Given the description of an element on the screen output the (x, y) to click on. 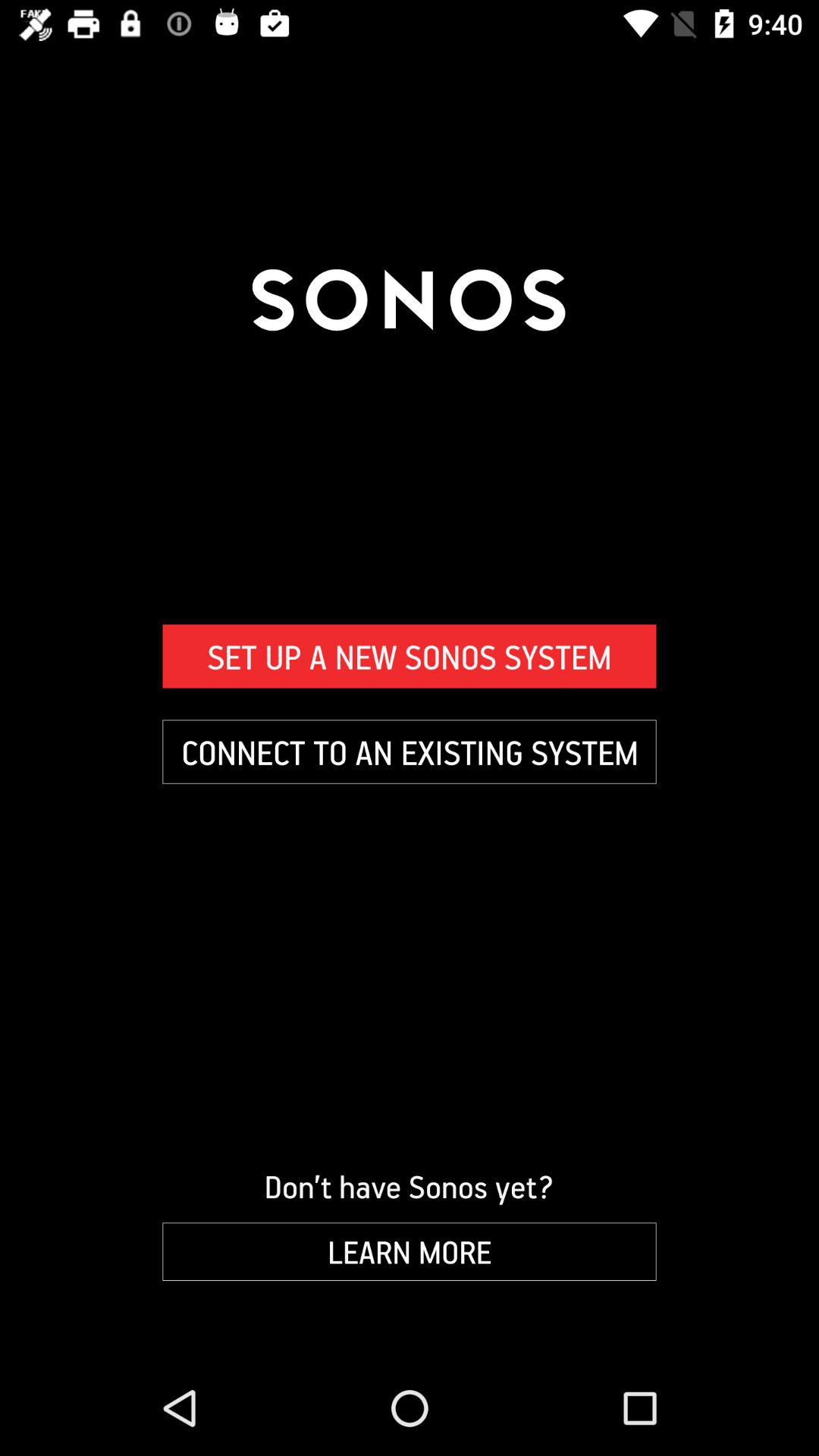
select item above the don t have (409, 751)
